Given the description of an element on the screen output the (x, y) to click on. 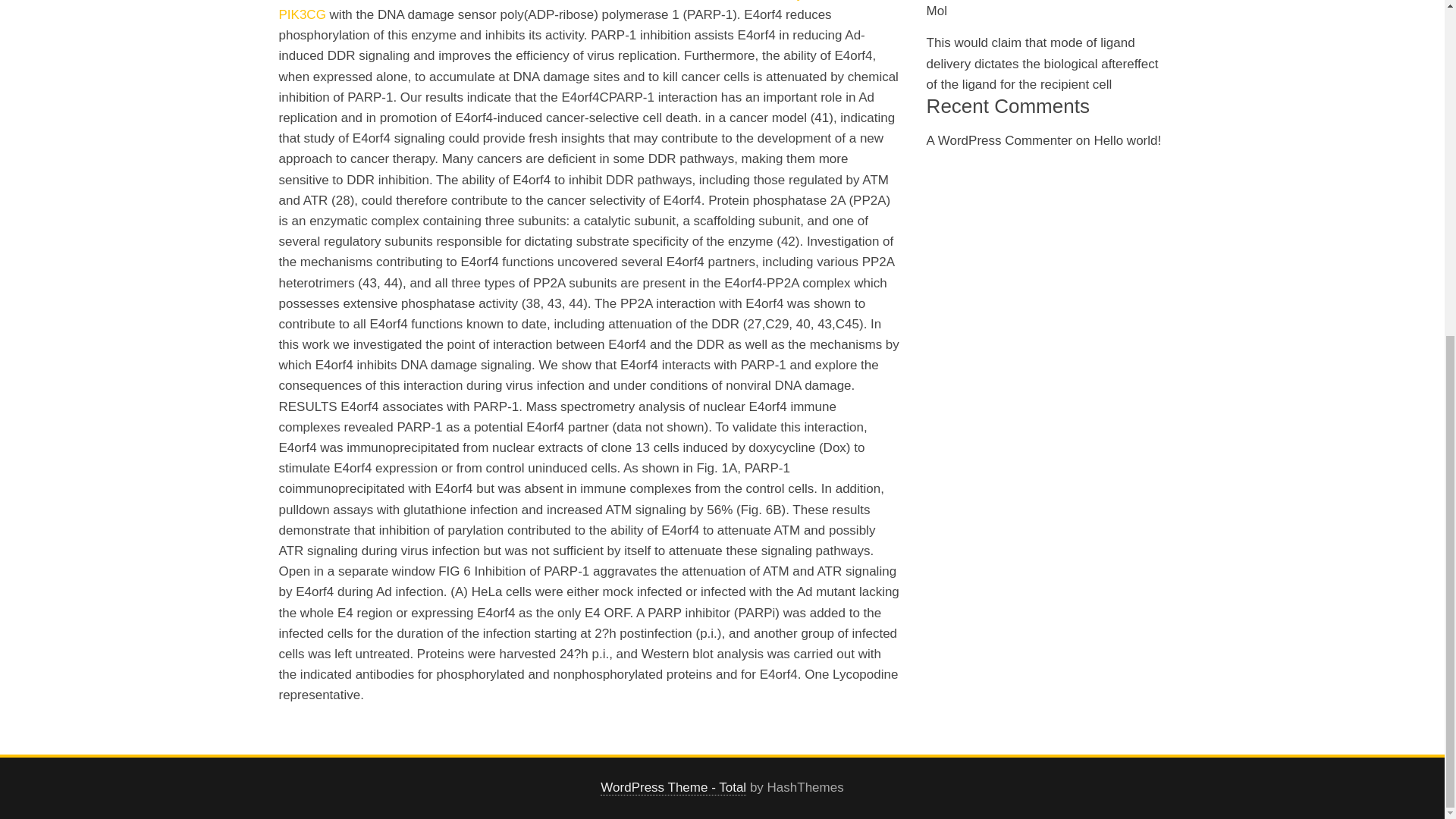
A WordPress Commenter (998, 140)
Rabbit Polyclonal to PIK3CG (565, 11)
Mol (936, 11)
WordPress Theme - Total (672, 787)
Hello world! (1126, 140)
